Given the description of an element on the screen output the (x, y) to click on. 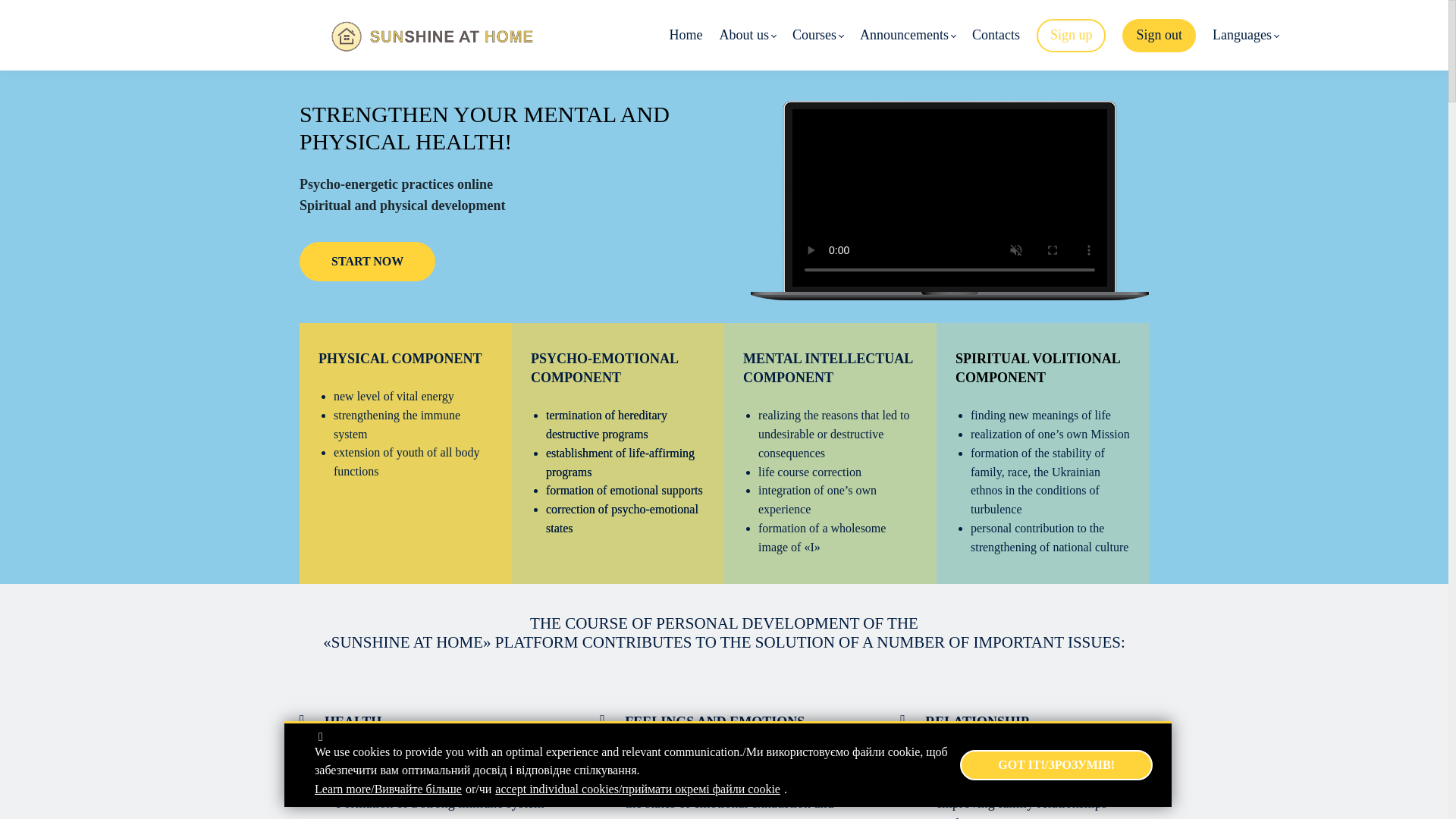
Courses (817, 35)
Contacts (996, 35)
Sign up (1071, 35)
Home (684, 35)
Sign out (1158, 35)
START NOW (367, 261)
